Given the description of an element on the screen output the (x, y) to click on. 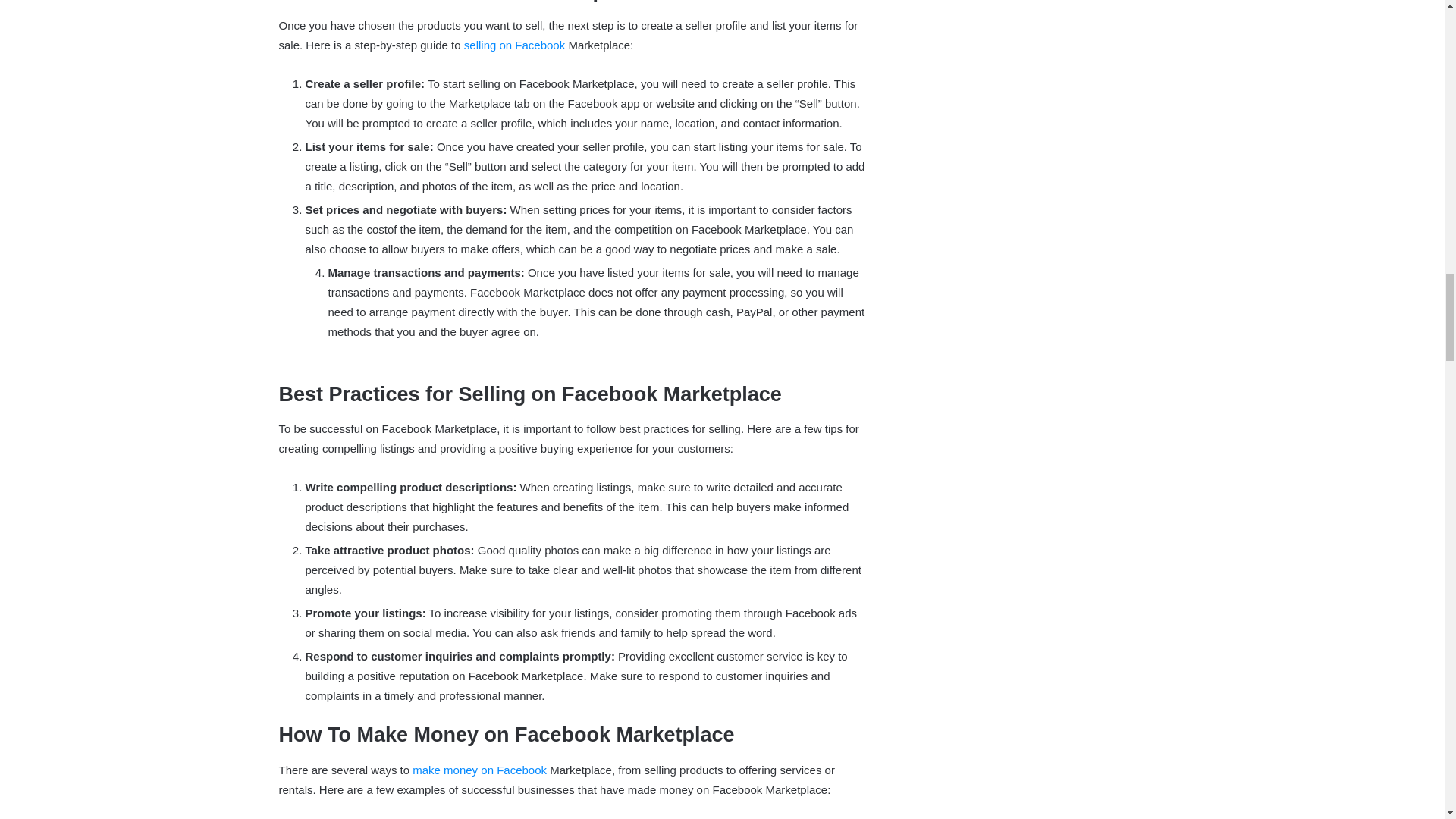
make money on Facebook (479, 769)
selling on Facebook (514, 44)
